Given the description of an element on the screen output the (x, y) to click on. 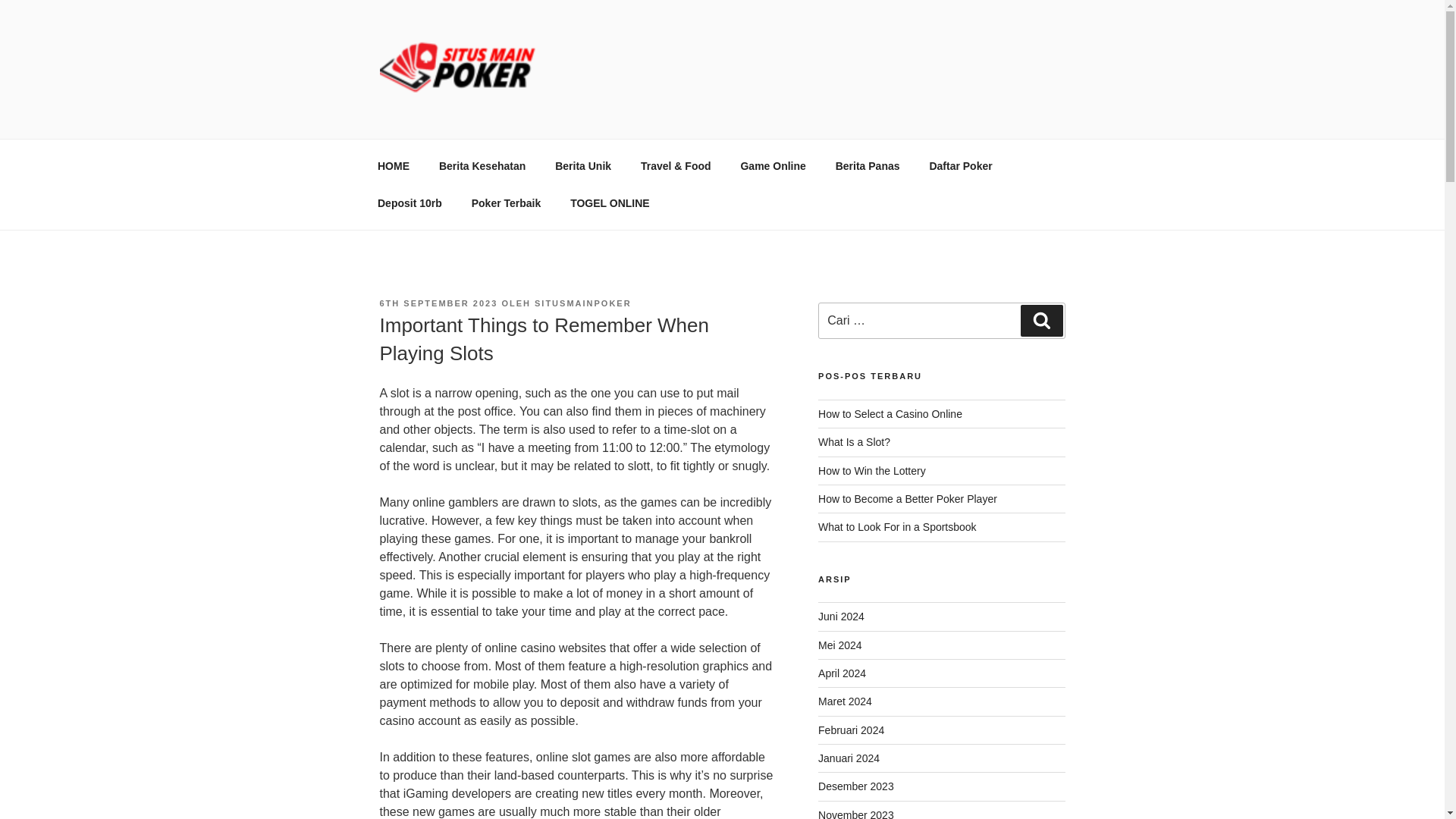
Cari (1041, 320)
What Is a Slot? (853, 441)
Juni 2024 (841, 616)
Berita Unik (582, 165)
TOGEL ONLINE (610, 203)
HOME (393, 165)
6TH SEPTEMBER 2023 (437, 302)
How to Become a Better Poker Player (907, 499)
SITUSMAINPOKER.COM (557, 119)
Maret 2024 (845, 701)
